Given the description of an element on the screen output the (x, y) to click on. 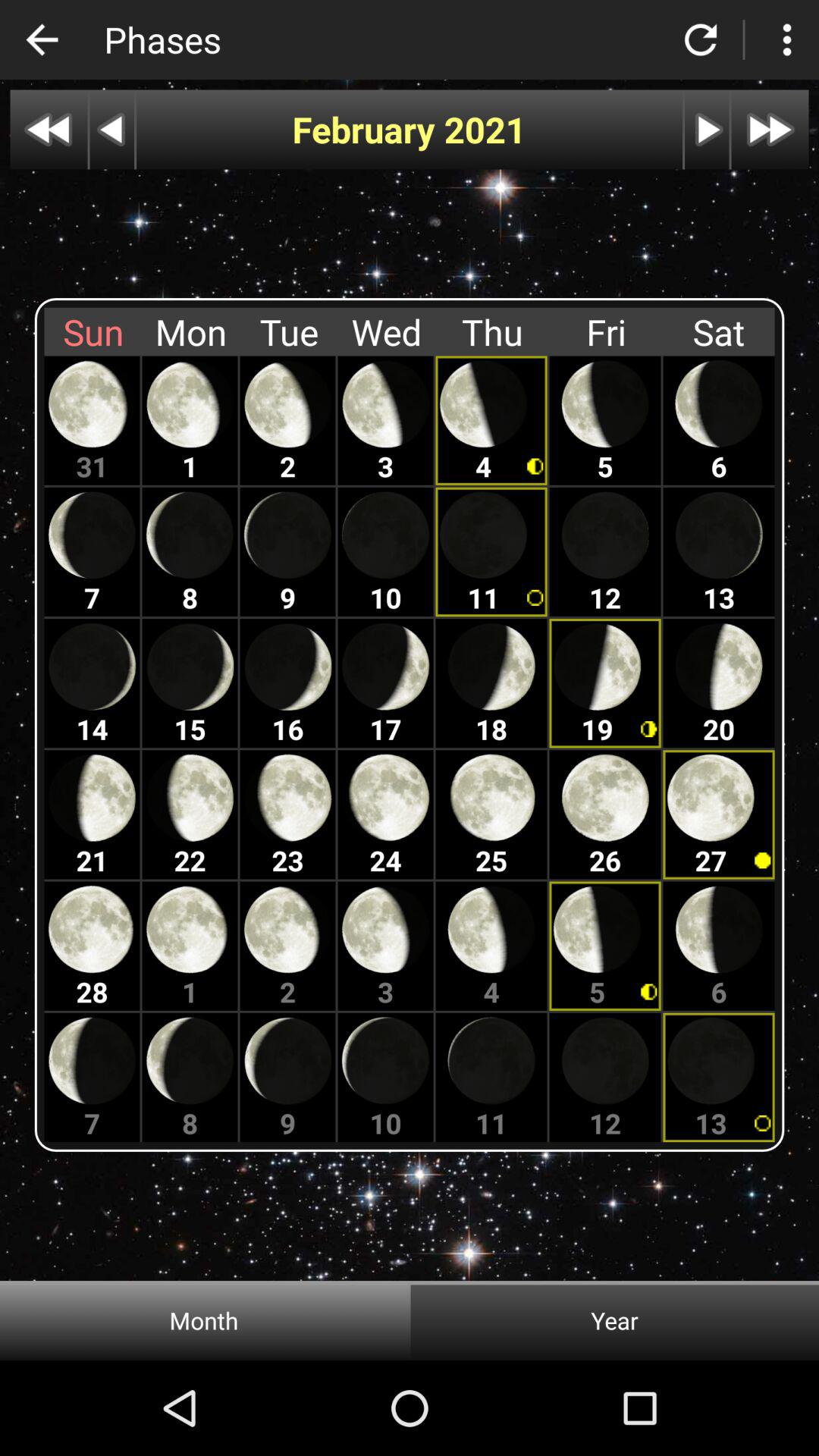
preview button (111, 129)
